Given the description of an element on the screen output the (x, y) to click on. 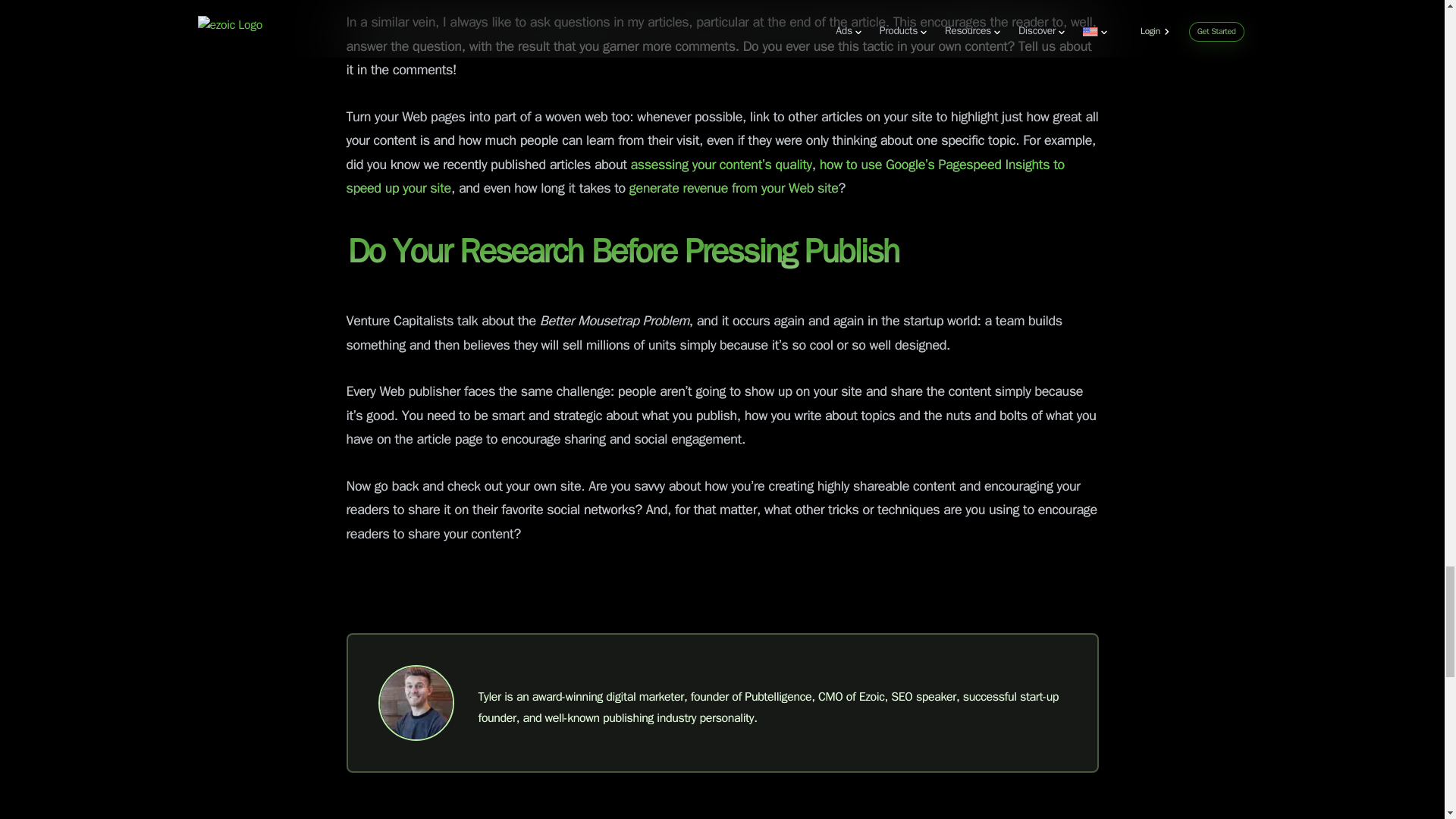
generate revenue from your Web site (733, 188)
